Given the description of an element on the screen output the (x, y) to click on. 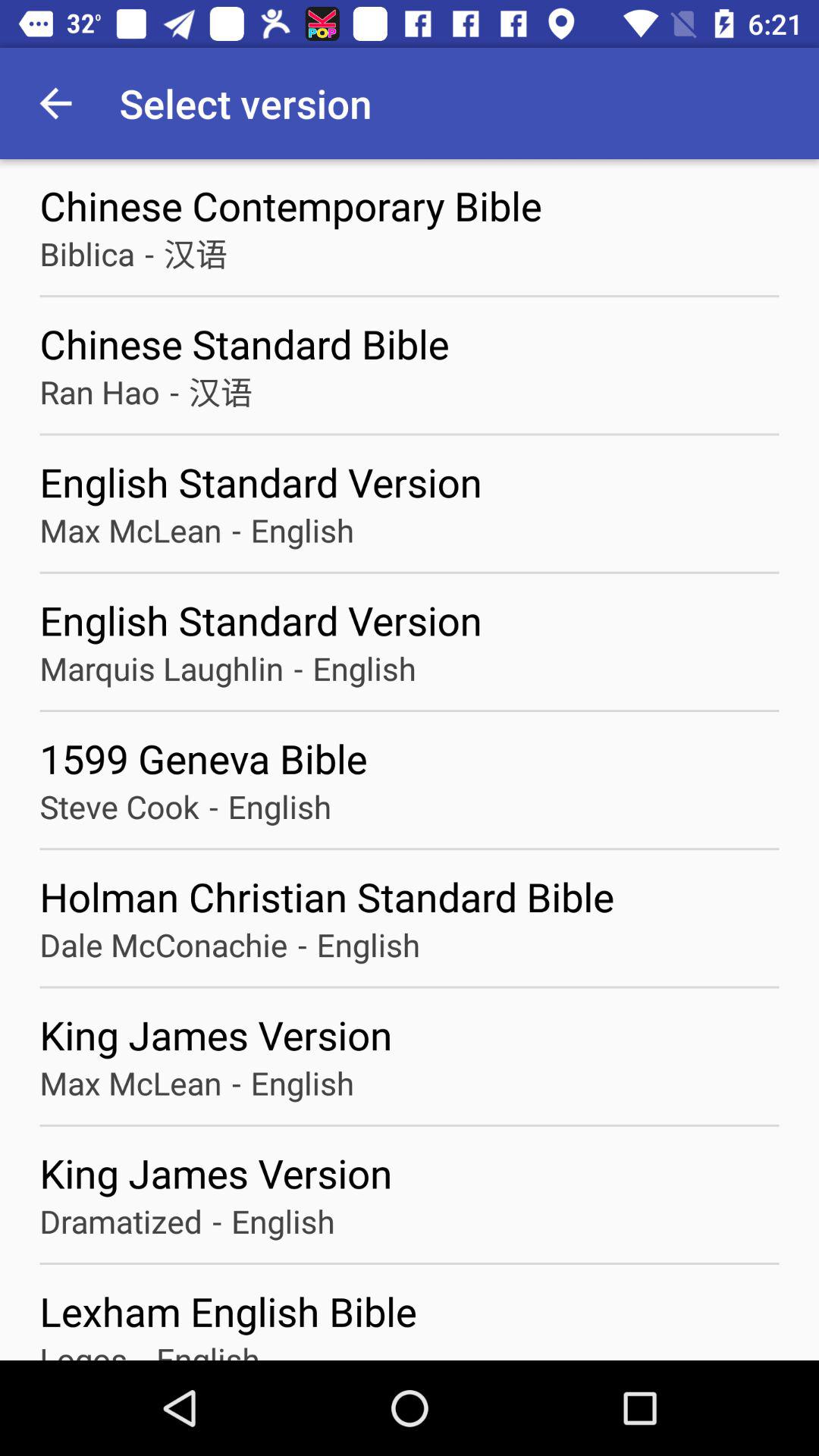
scroll until the - item (236, 529)
